Given the description of an element on the screen output the (x, y) to click on. 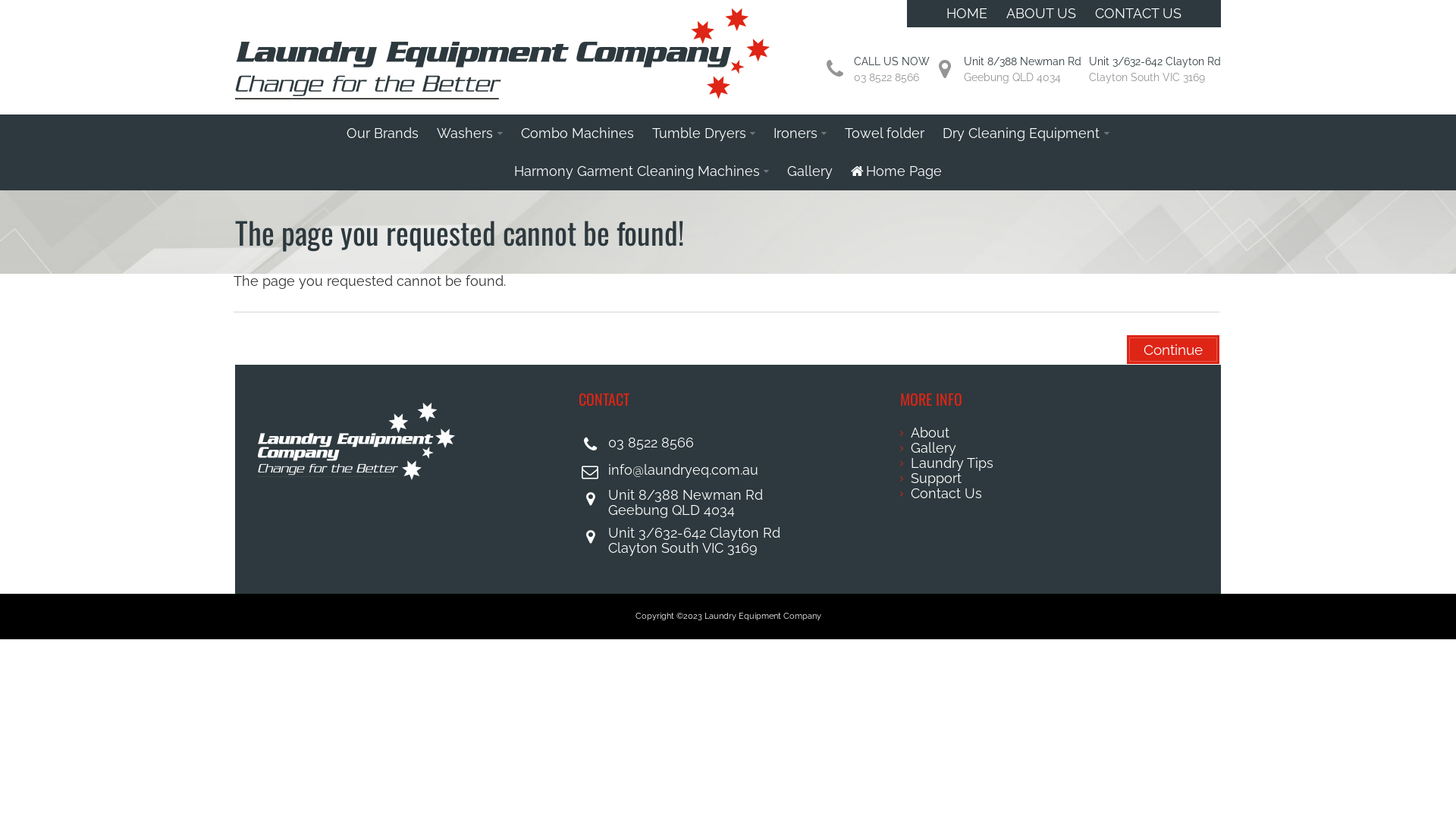
Tumble Dryers Element type: text (703, 133)
Gallery Element type: text (1049, 447)
Contact Us Element type: text (1049, 493)
Laundry Tips Element type: text (1049, 462)
CALL US NOW
03 8522 8566 Element type: text (891, 69)
Ironers Element type: text (799, 133)
Home Page Element type: text (896, 171)
Continue Element type: text (1172, 349)
CONTACT US Element type: text (1137, 13)
Towel folder Element type: text (884, 133)
Combo Machines Element type: text (577, 133)
Washers Element type: text (469, 133)
Unit 3/632-642 Clayton Rd
Clayton South VIC 3169 Element type: text (1154, 69)
Support Element type: text (1049, 478)
Gallery Element type: text (809, 171)
Dry Cleaning Equipment Element type: text (1025, 133)
About Element type: text (1049, 432)
Harmony Garment Cleaning Machines Element type: text (641, 171)
HOME Element type: text (966, 13)
Our Brands Element type: text (382, 133)
ABOUT US Element type: text (1041, 13)
Unit 8/388 Newman Rd
Geebung QLD 4034 Element type: text (1022, 69)
